Given the description of an element on the screen output the (x, y) to click on. 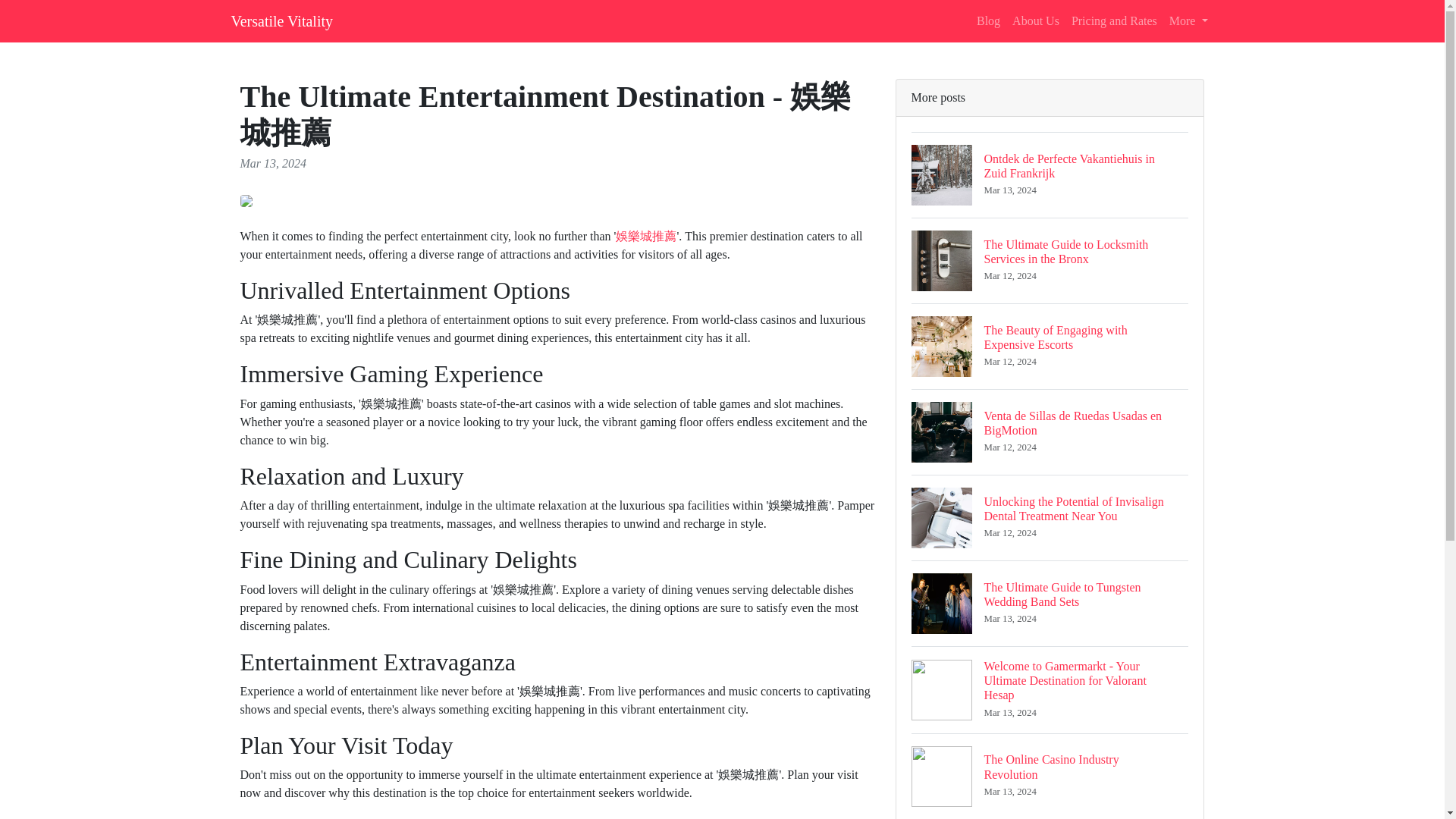
About Us (1035, 20)
Versatile Vitality (281, 20)
More (1050, 432)
